Given the description of an element on the screen output the (x, y) to click on. 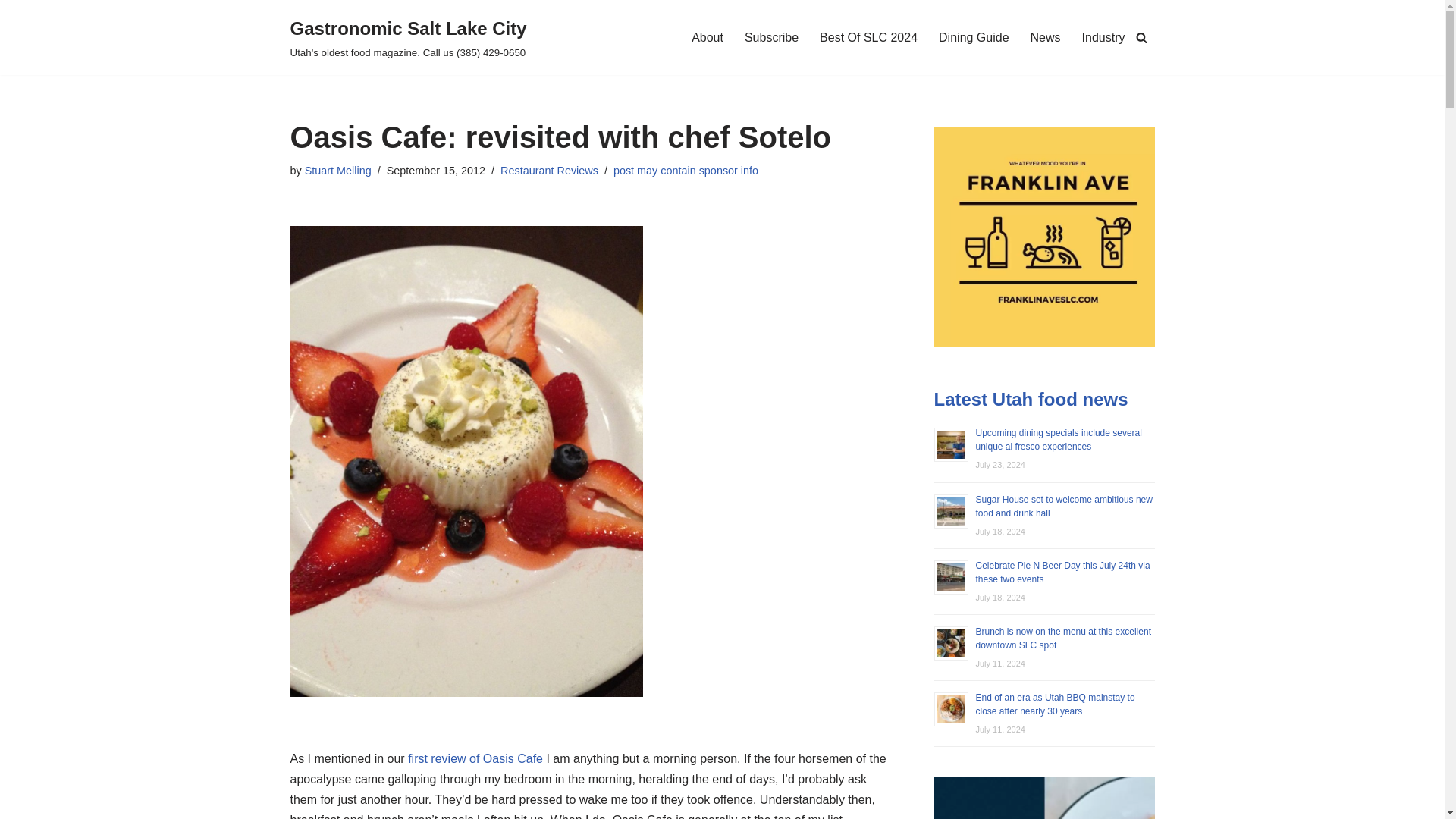
Posts by Stuart Melling (337, 170)
first review of Oasis Cafe (475, 758)
Skip to content (11, 31)
About (707, 37)
News (1045, 37)
Best Of SLC 2024 (868, 37)
post may contain sponsor info (685, 170)
Restaurant Reviews (549, 170)
Dining Guide (974, 37)
Stuart Melling (337, 170)
Industry (1103, 37)
Subscribe (770, 37)
